Given the description of an element on the screen output the (x, y) to click on. 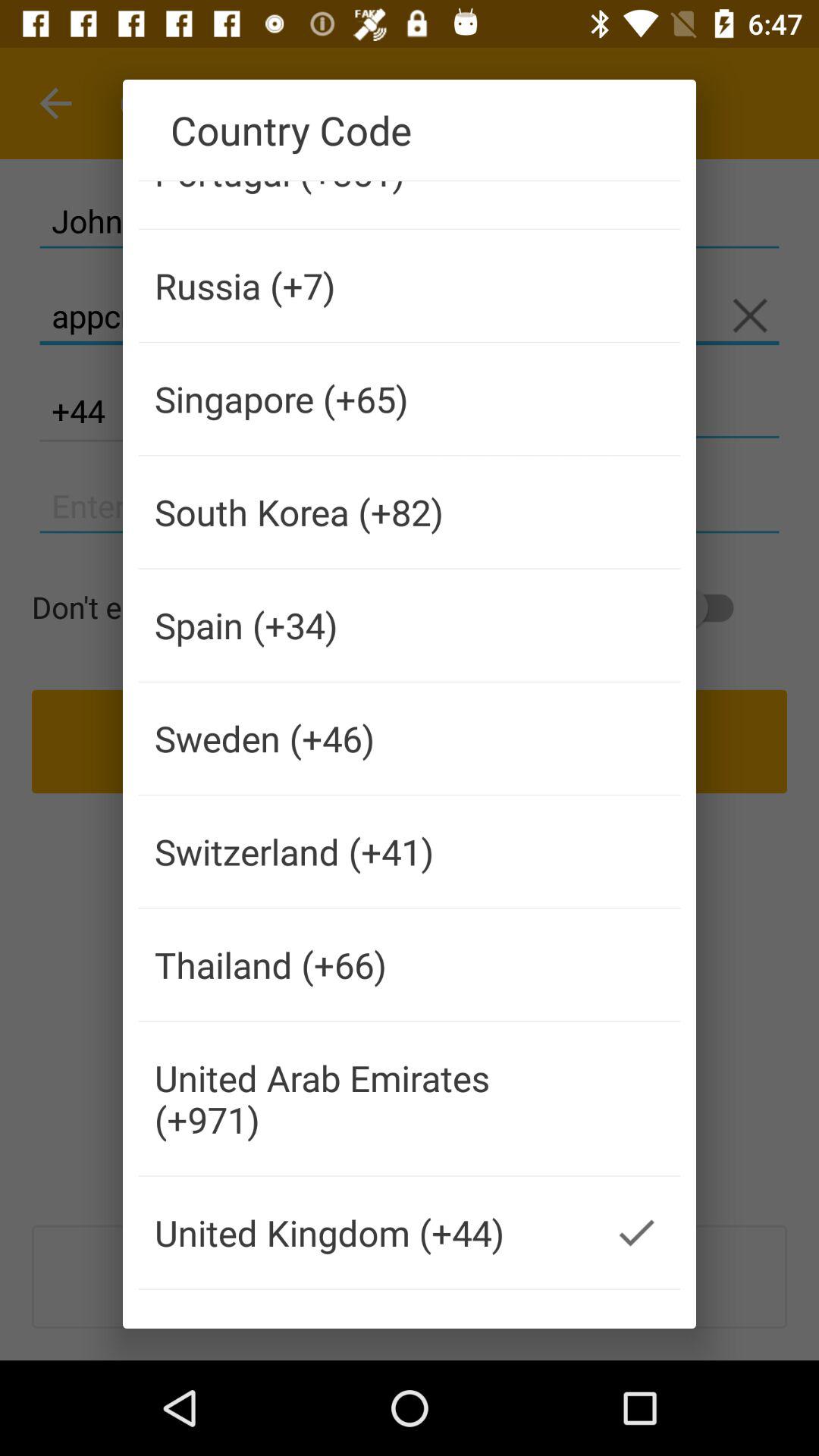
select the item below switzerland (+41) (365, 964)
